Given the description of an element on the screen output the (x, y) to click on. 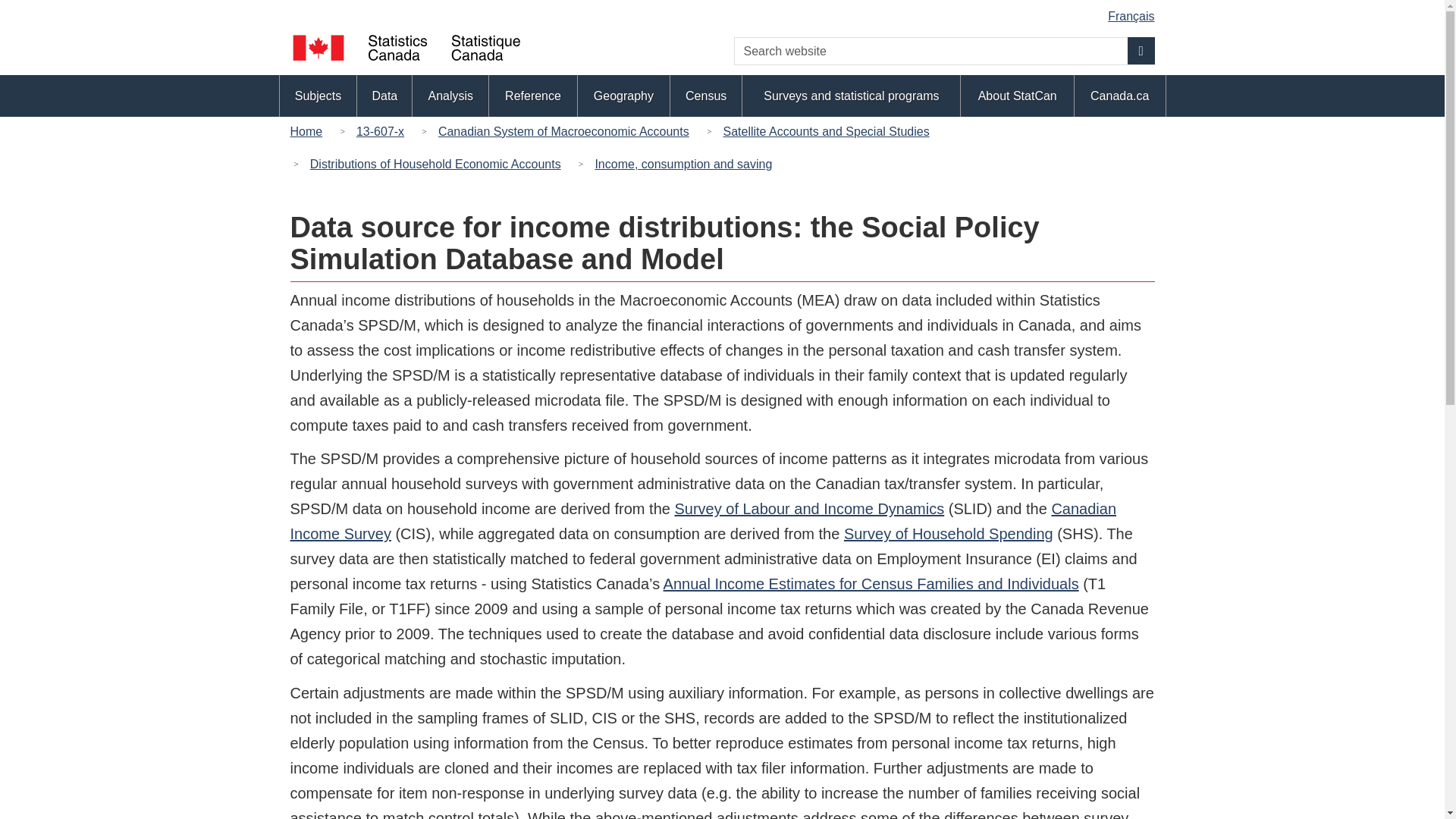
Search (1140, 50)
Canada.ca (1120, 96)
Geography (623, 96)
Online catalogue: 13-607-x (380, 131)
Subjects (317, 96)
Skip to main content (725, 11)
Census (705, 96)
Data (384, 96)
13-607-x (380, 131)
Satellite Accounts and Special Studies (825, 131)
